Given the description of an element on the screen output the (x, y) to click on. 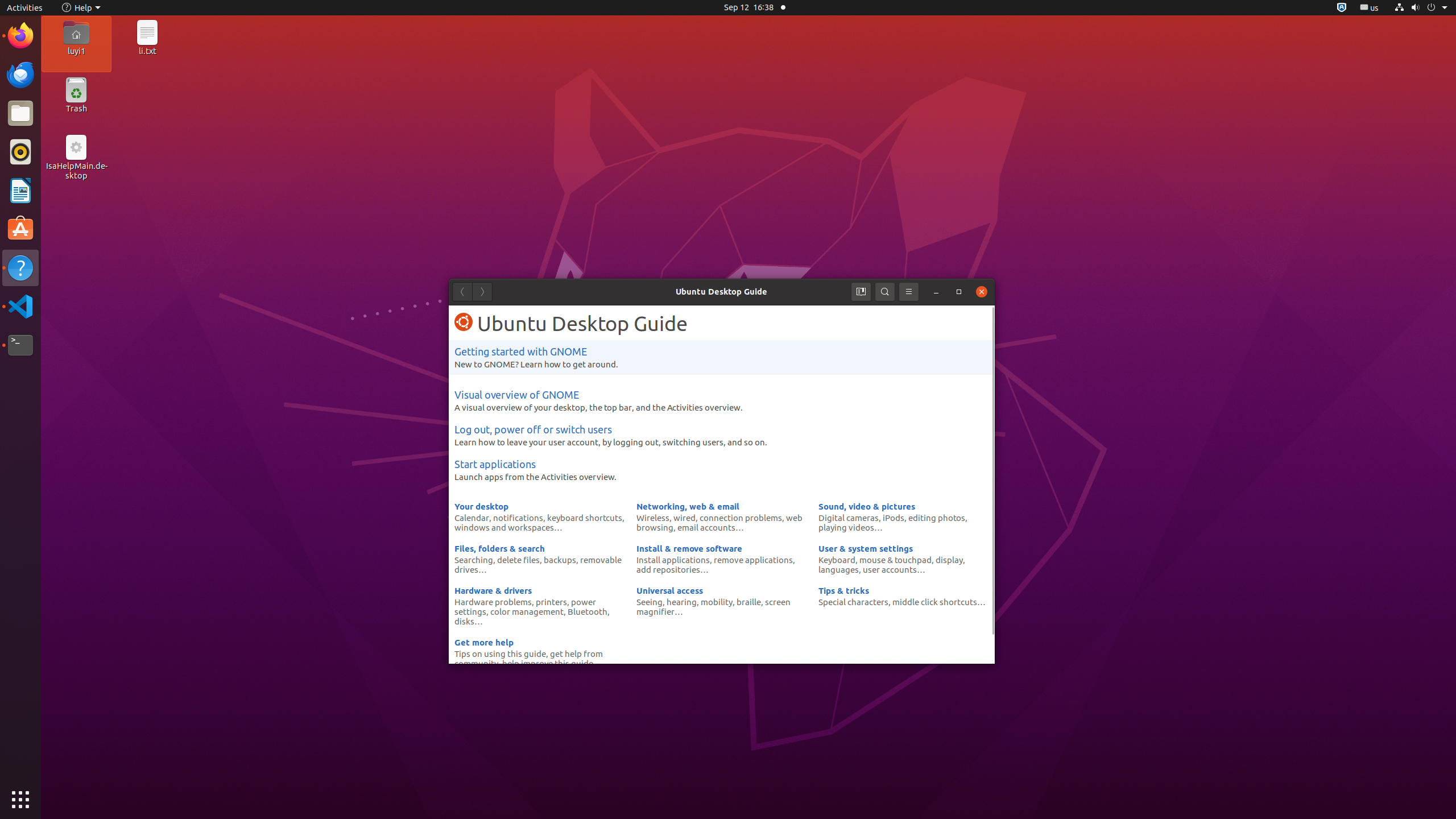
Searching Element type: link (473, 559)
connection problems Element type: link (740, 517)
hearing Element type: link (681, 601)
Getting started with GNOME New to GNOME? Learn how to get around. Element type: link (721, 356)
